Given the description of an element on the screen output the (x, y) to click on. 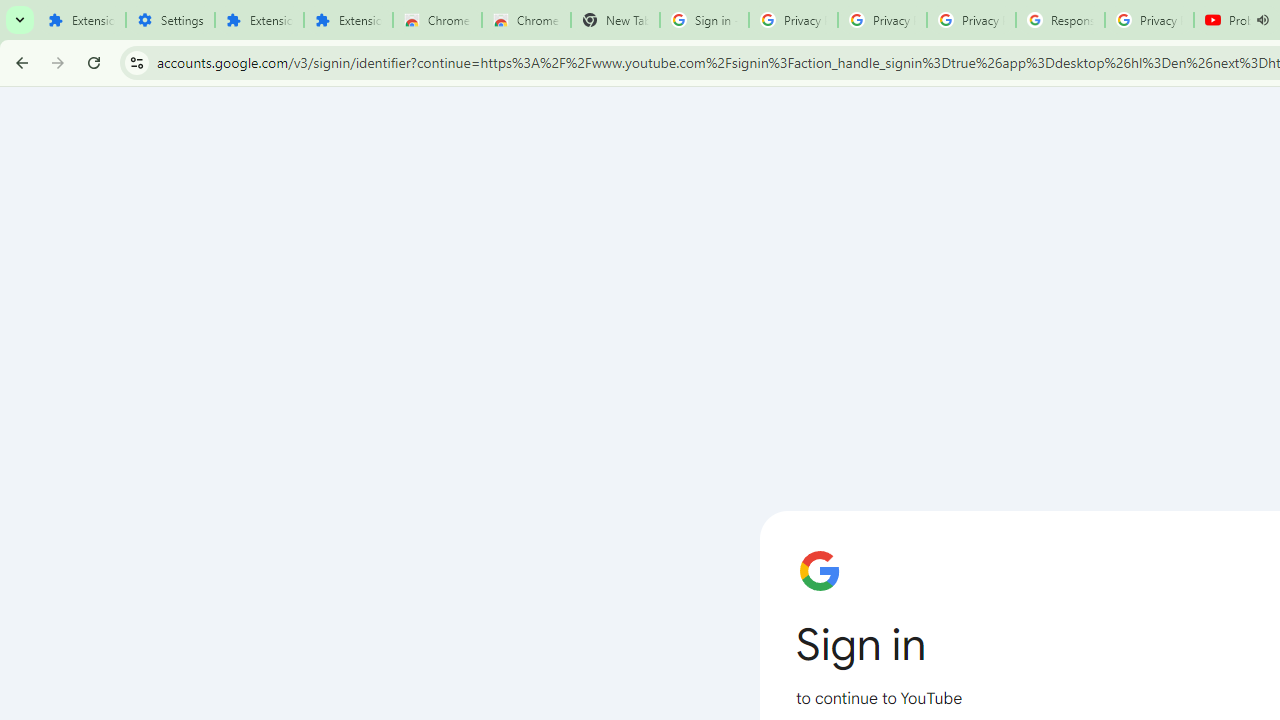
Extensions (81, 20)
